Given the description of an element on the screen output the (x, y) to click on. 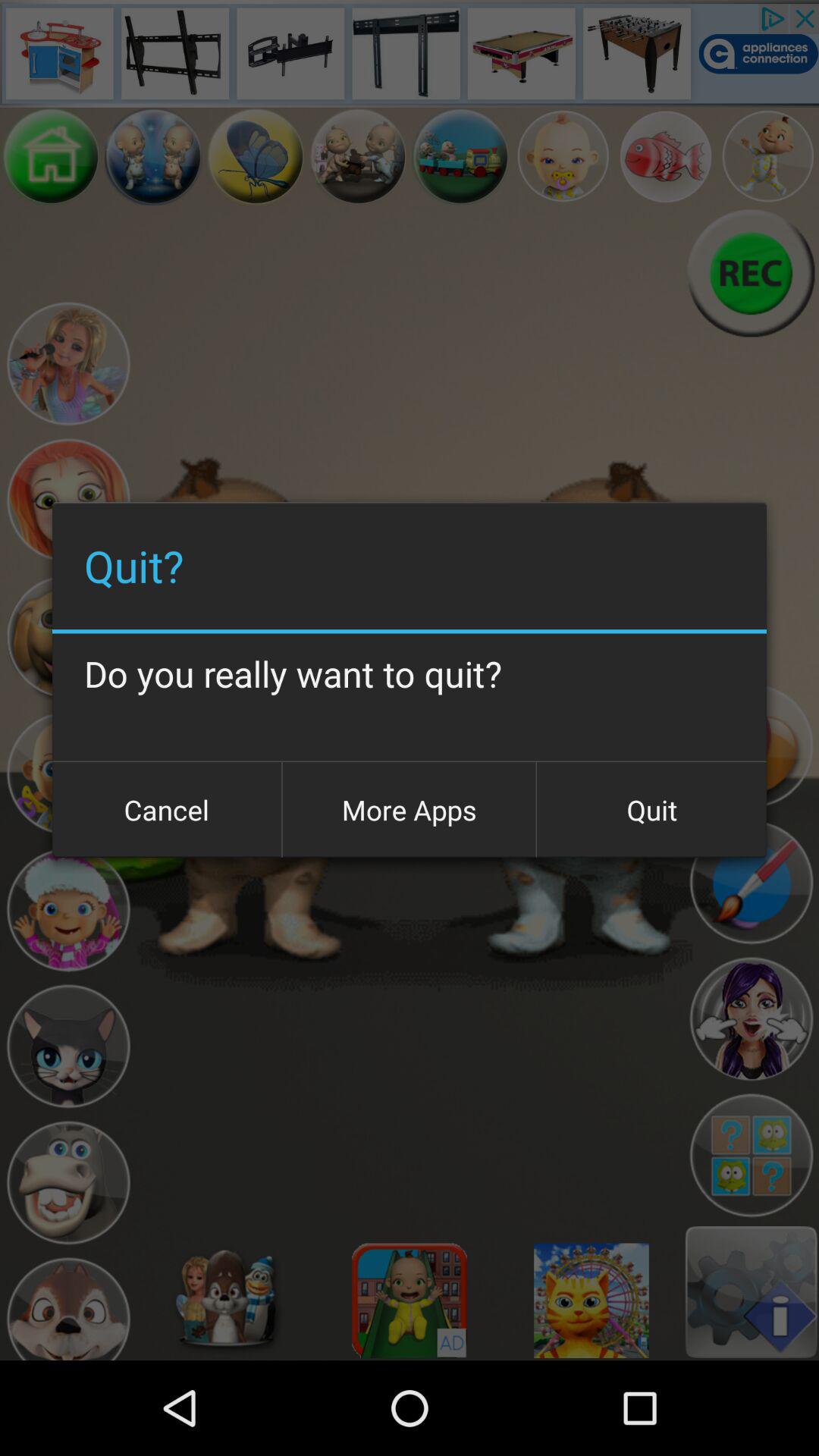
shows home icon (51, 156)
